Given the description of an element on the screen output the (x, y) to click on. 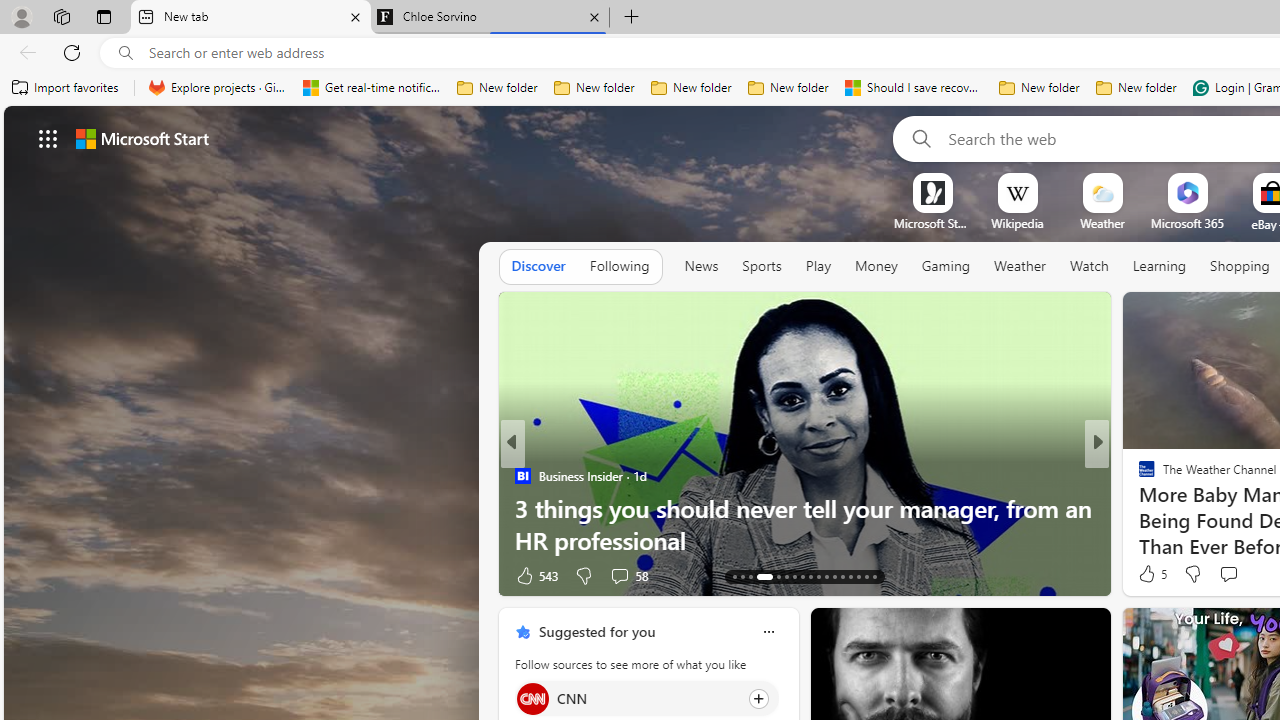
View comments 6 Comment (1234, 575)
Gaming (945, 265)
Import favorites (65, 88)
App launcher (47, 138)
Shopping (1240, 265)
9 Like (1145, 574)
News (701, 265)
View comments 19 Comment (1244, 574)
